Given the description of an element on the screen output the (x, y) to click on. 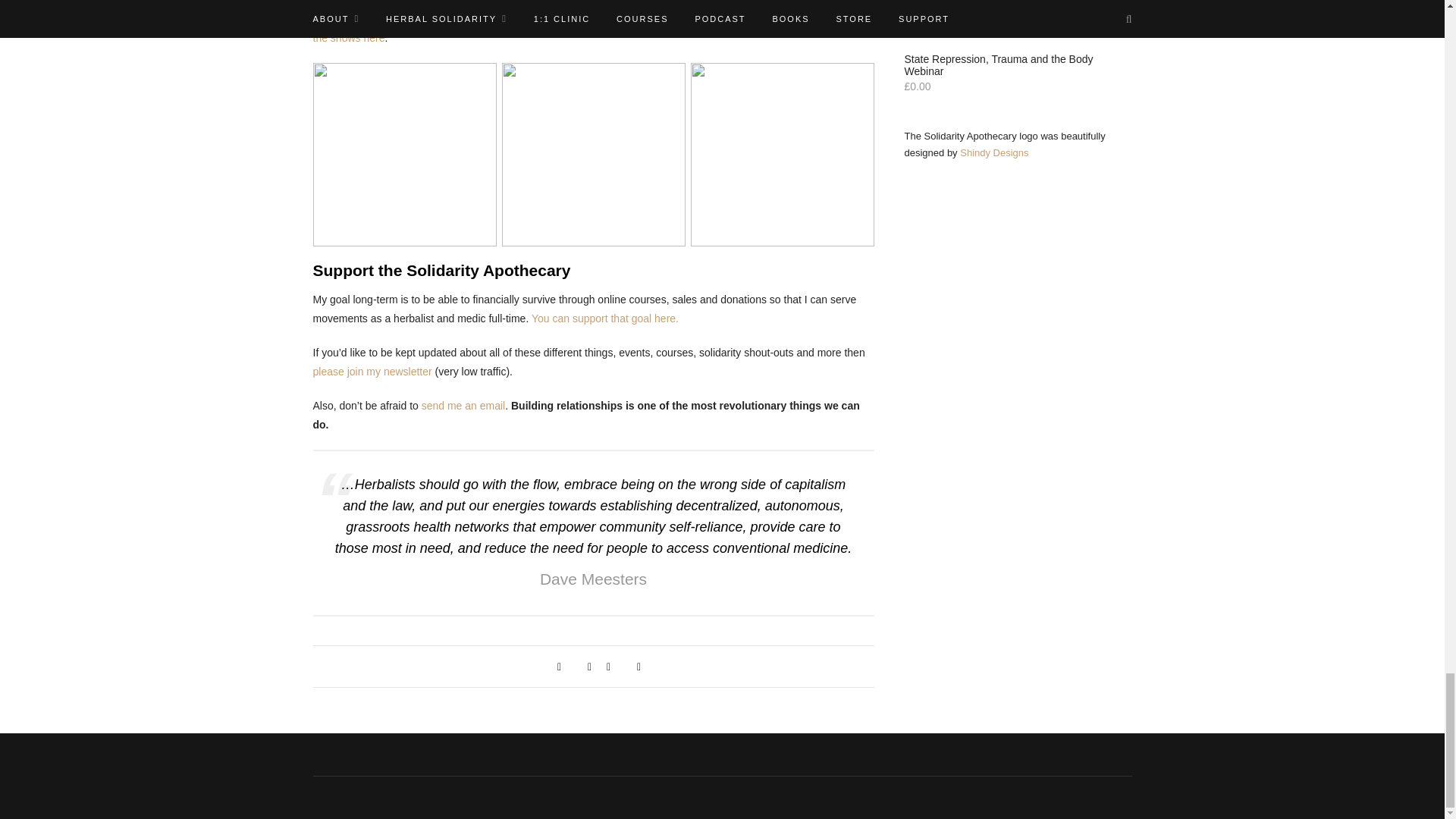
please join my newsletter (371, 371)
You can support that goal here. (604, 318)
check out all the shows here (588, 28)
send me an email (463, 405)
